Given the description of an element on the screen output the (x, y) to click on. 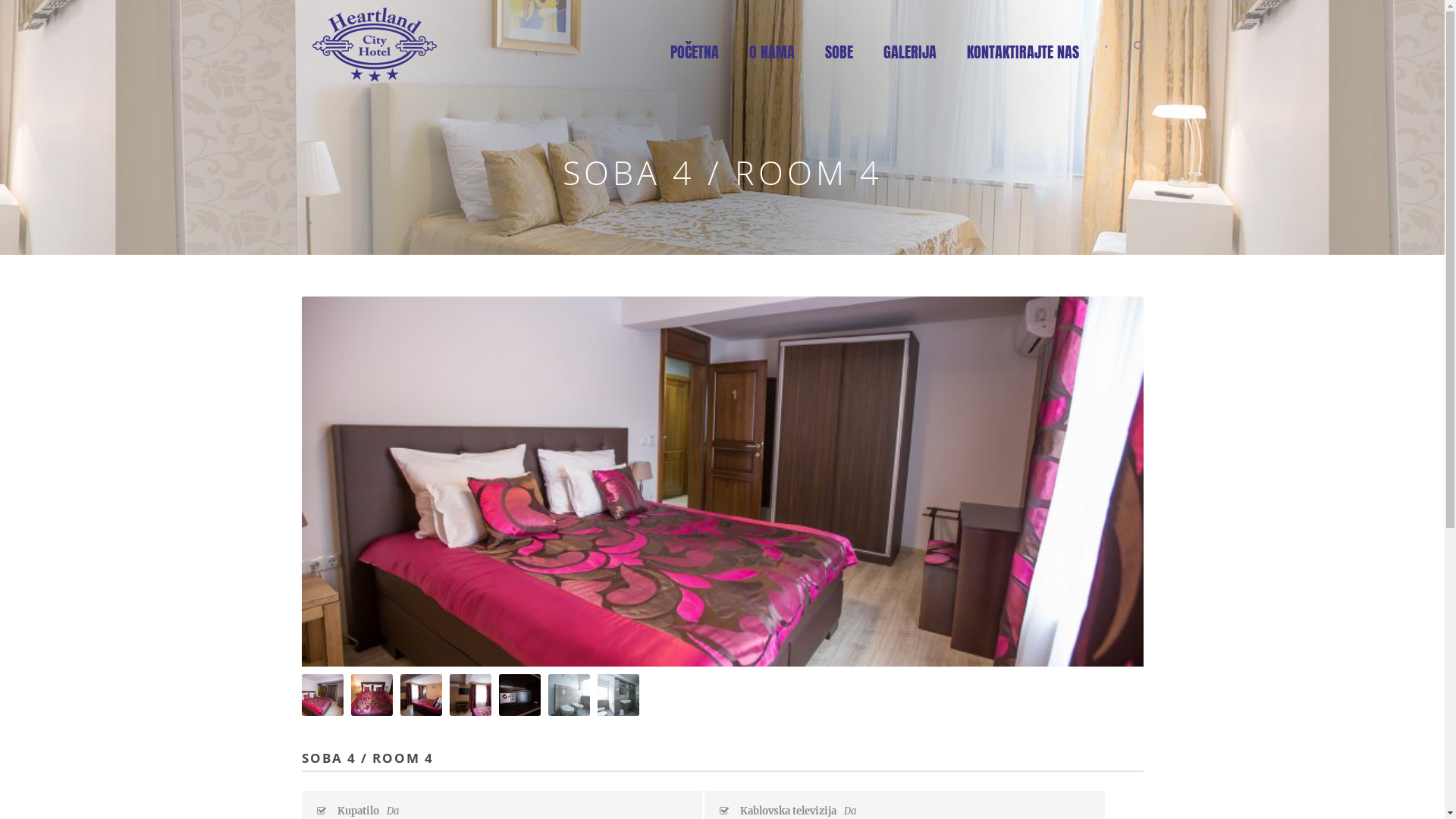
O NAMA Element type: text (771, 61)
GALERIJA Element type: text (908, 61)
SOBE Element type: text (838, 61)
KONTAKTIRAJTE NAS Element type: text (1021, 61)
